Given the description of an element on the screen output the (x, y) to click on. 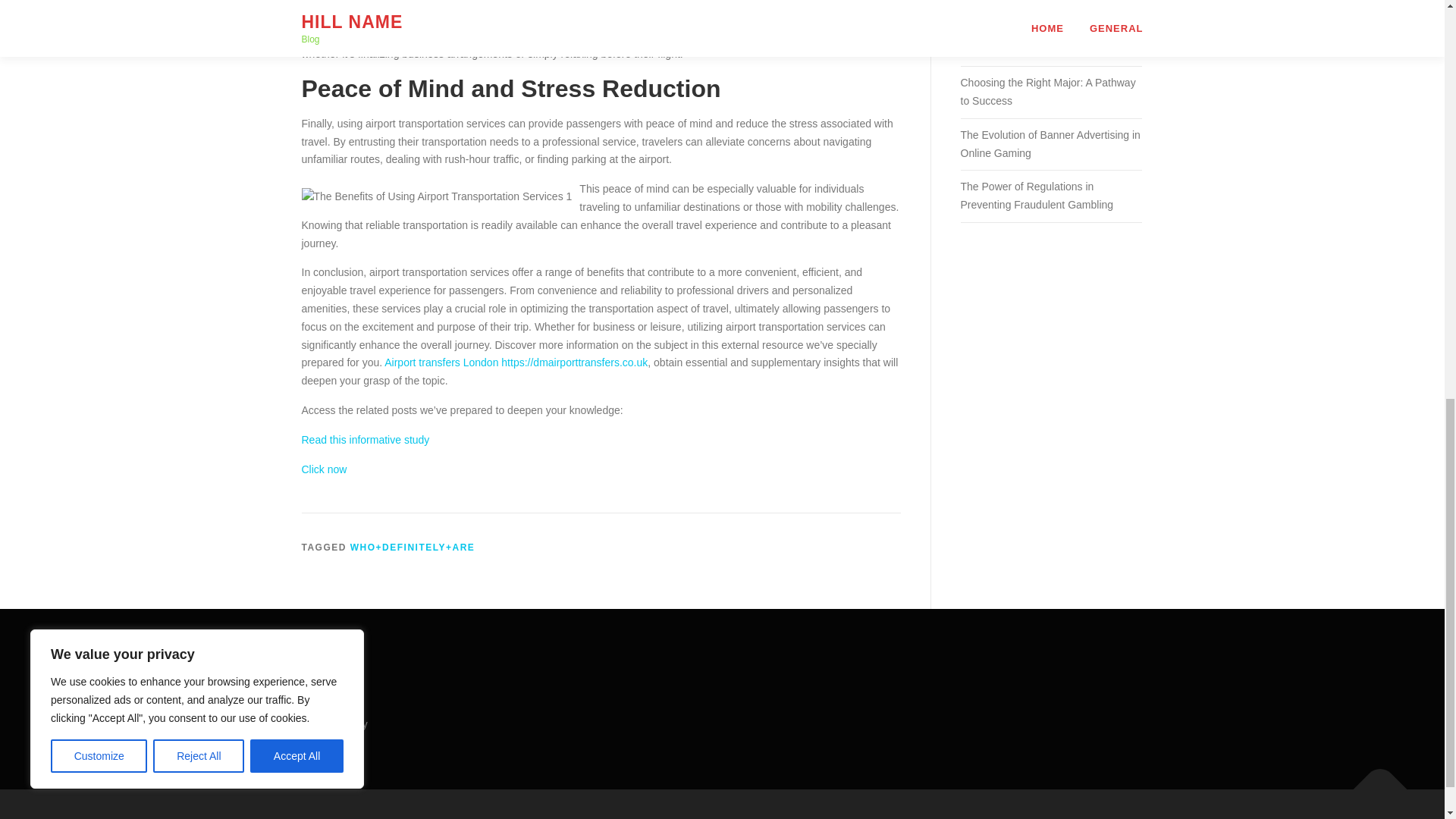
Back To Top (1372, 781)
Read this informative study (365, 439)
Click now (324, 469)
